Given the description of an element on the screen output the (x, y) to click on. 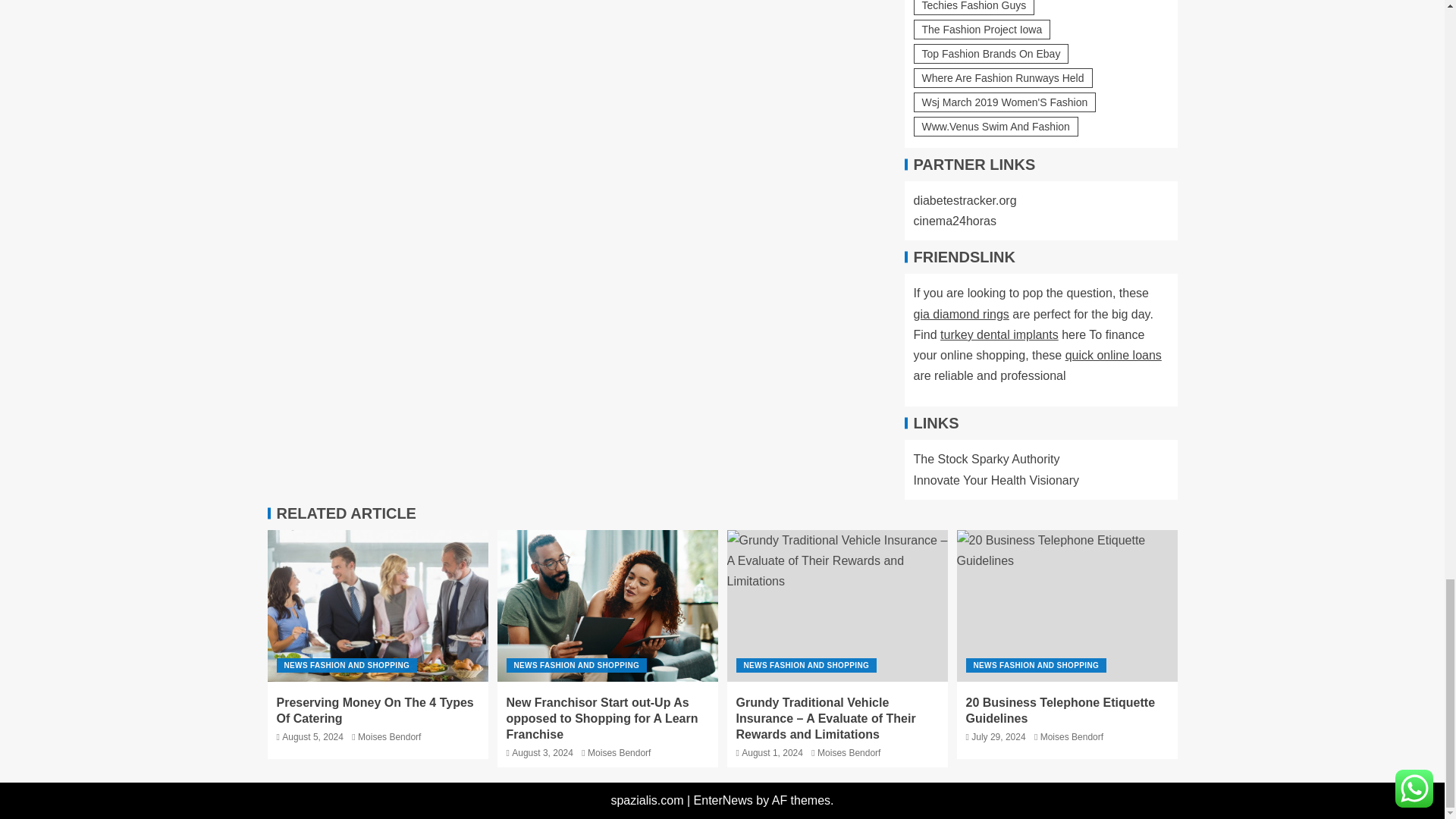
Preserving Money On The 4 Types Of Catering (376, 605)
